Given the description of an element on the screen output the (x, y) to click on. 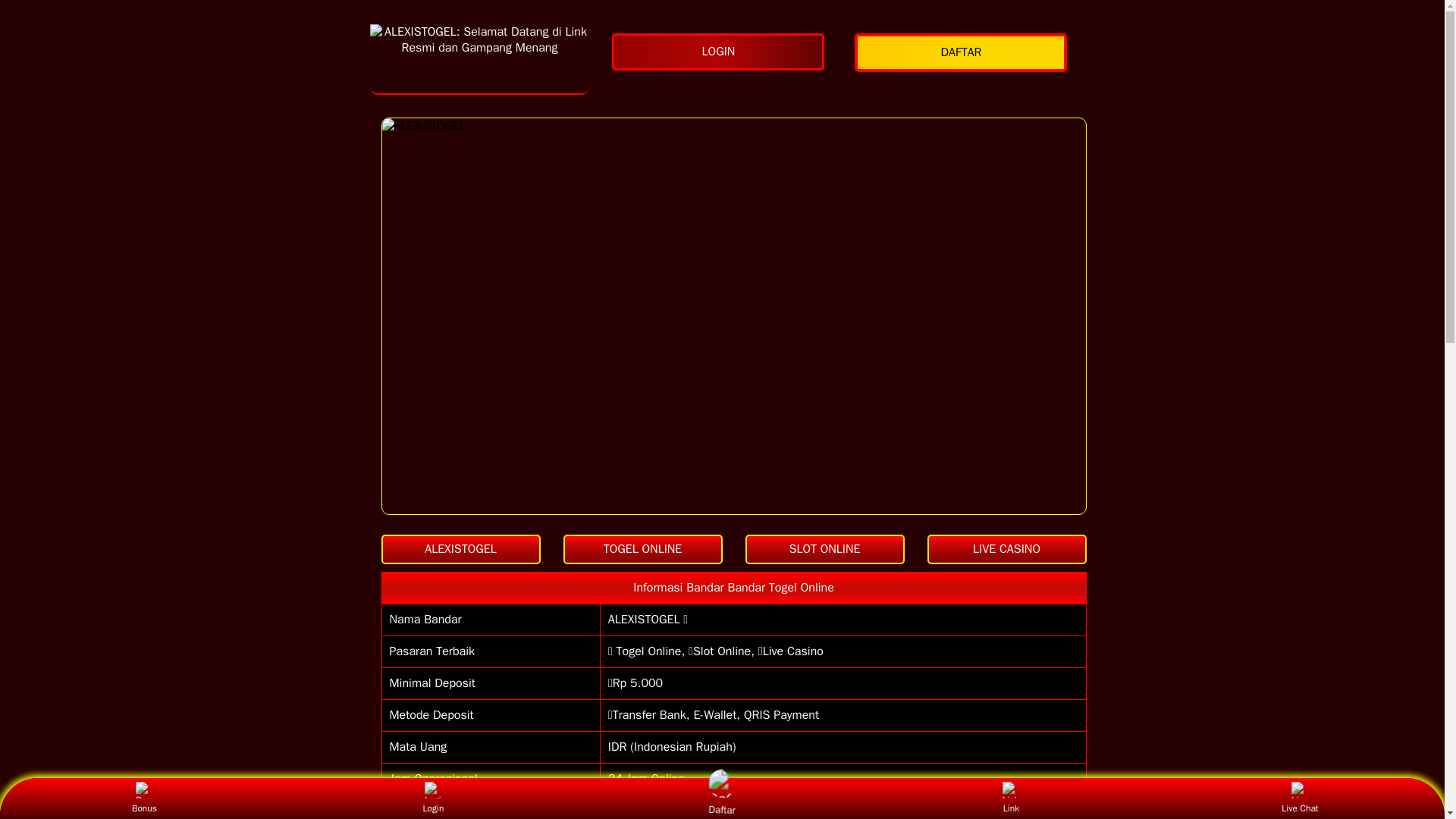
SLOT ONLINE (824, 549)
SLOT ONLINE (824, 549)
TOGEL ONLINE (642, 549)
TOGEL ONLINE (642, 549)
LIVE CASINO (1006, 549)
Daftar (718, 795)
Bonus (144, 797)
Link (1010, 797)
ALEXISTOGEL (460, 549)
ALEXISTOGEL (460, 549)
Live Chat (1299, 797)
Bandar totomacau terpercaya (479, 58)
LOGIN (721, 51)
LIVE CASINO (1006, 549)
DAFTAR (964, 52)
